Given the description of an element on the screen output the (x, y) to click on. 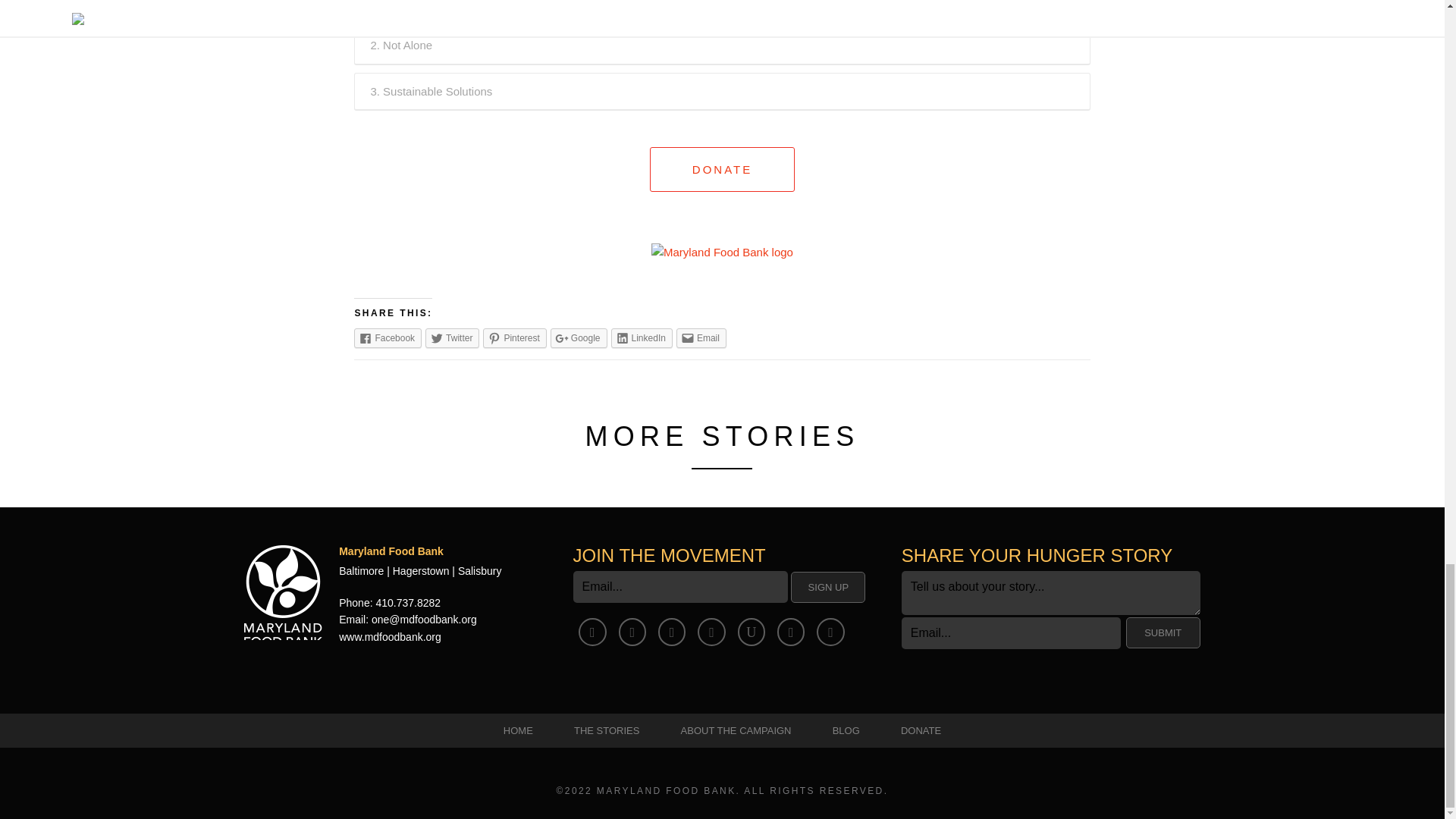
Linkedin (711, 631)
Baltimore (361, 571)
3. Sustainable Solutions (722, 91)
2. Not Alone (722, 45)
Hagerstown (421, 571)
Click to share on Pinterest (514, 338)
Google (578, 338)
Twitter (452, 338)
Pinterest (514, 338)
Soundcloud (830, 631)
